Given the description of an element on the screen output the (x, y) to click on. 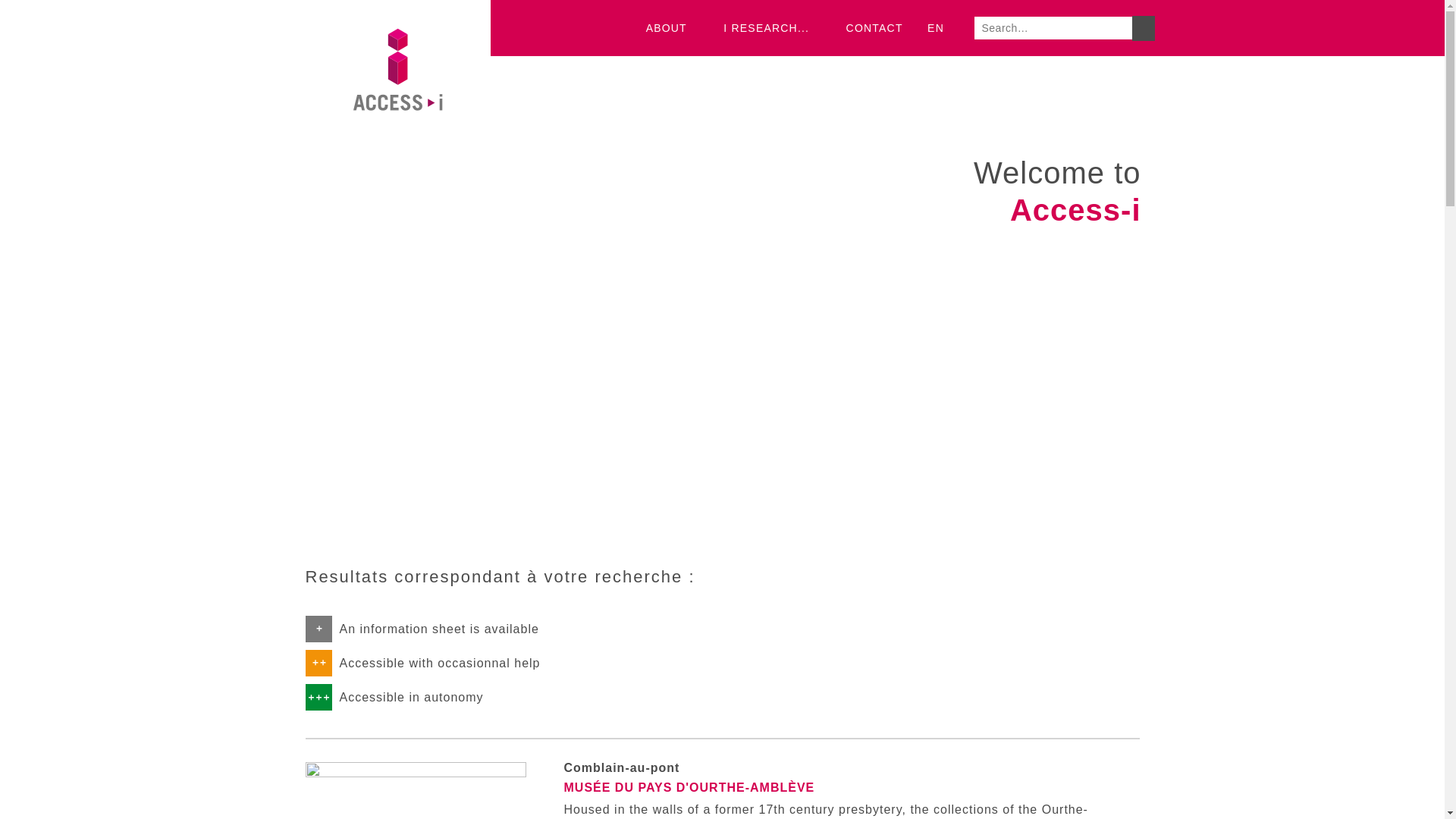
Vers Home Element type: hover (396, 166)
EN Element type: text (943, 28)
ABOUT Element type: text (672, 28)
CONTACT Element type: text (874, 28)
I RESEARCH... Element type: text (771, 28)
